Given the description of an element on the screen output the (x, y) to click on. 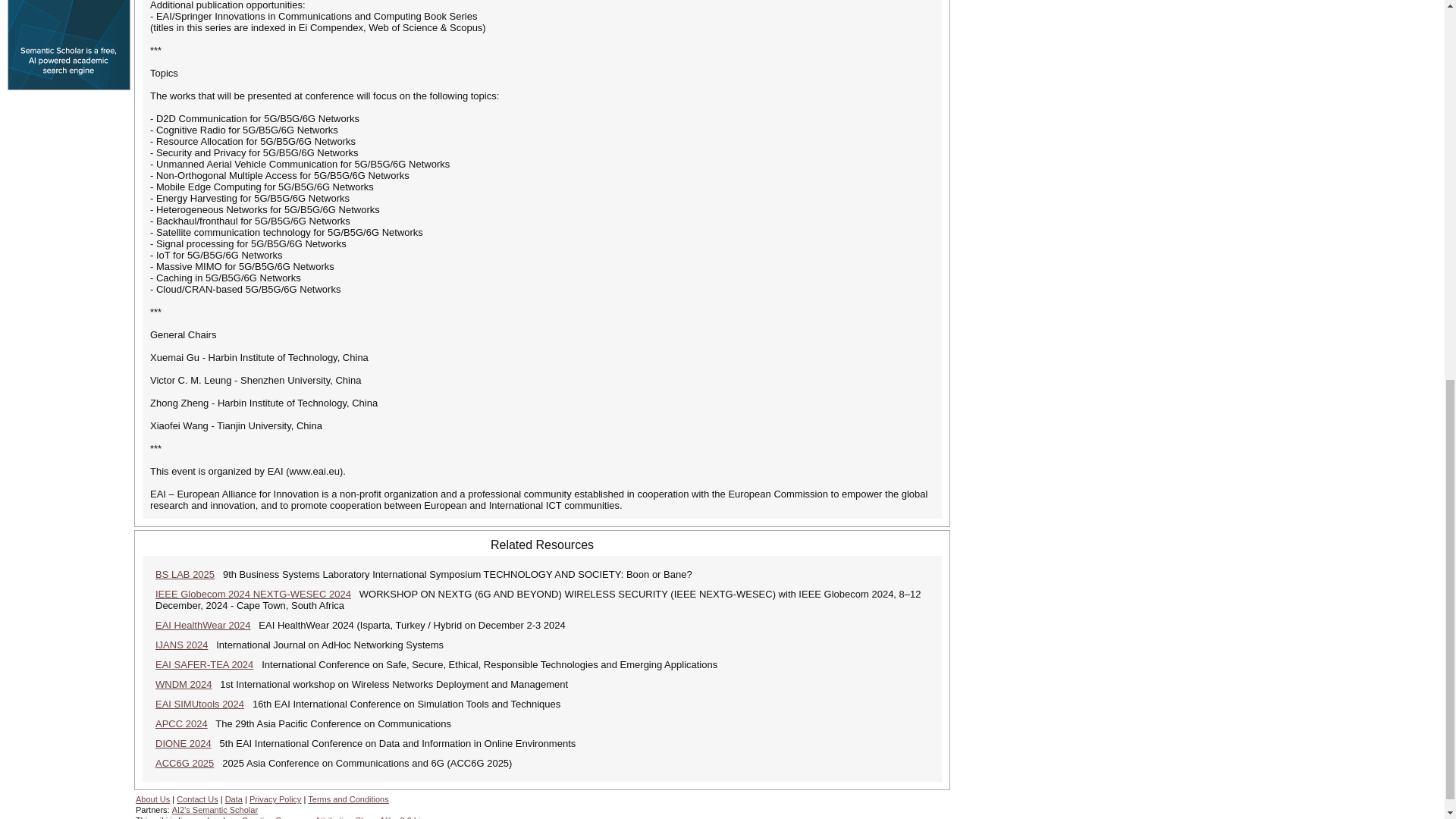
IEEE Globecom 2024 NEXTG-WESEC 2024 (252, 593)
BS LAB 2025 (184, 573)
EAI HealthWear 2024 (202, 624)
WNDM 2024 (183, 684)
IJANS 2024 (181, 644)
EAI SAFER-TEA 2024 (204, 664)
